Given the description of an element on the screen output the (x, y) to click on. 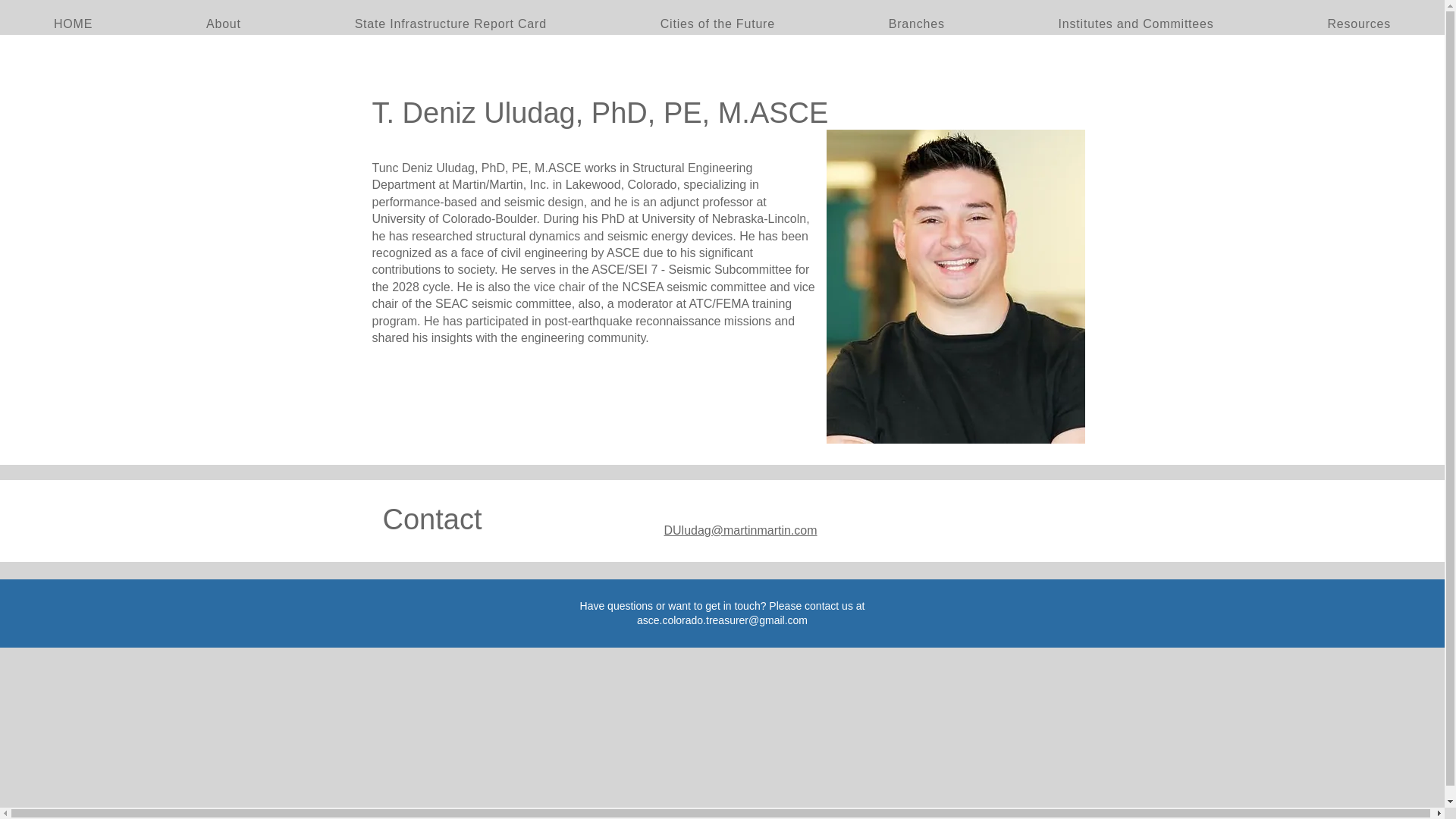
Institutes and Committees (1136, 23)
HOME (73, 23)
State Infrastructure Report Card (450, 23)
Cities of the Future (717, 23)
Branches (916, 23)
Resources (1358, 23)
About (223, 23)
